Given the description of an element on the screen output the (x, y) to click on. 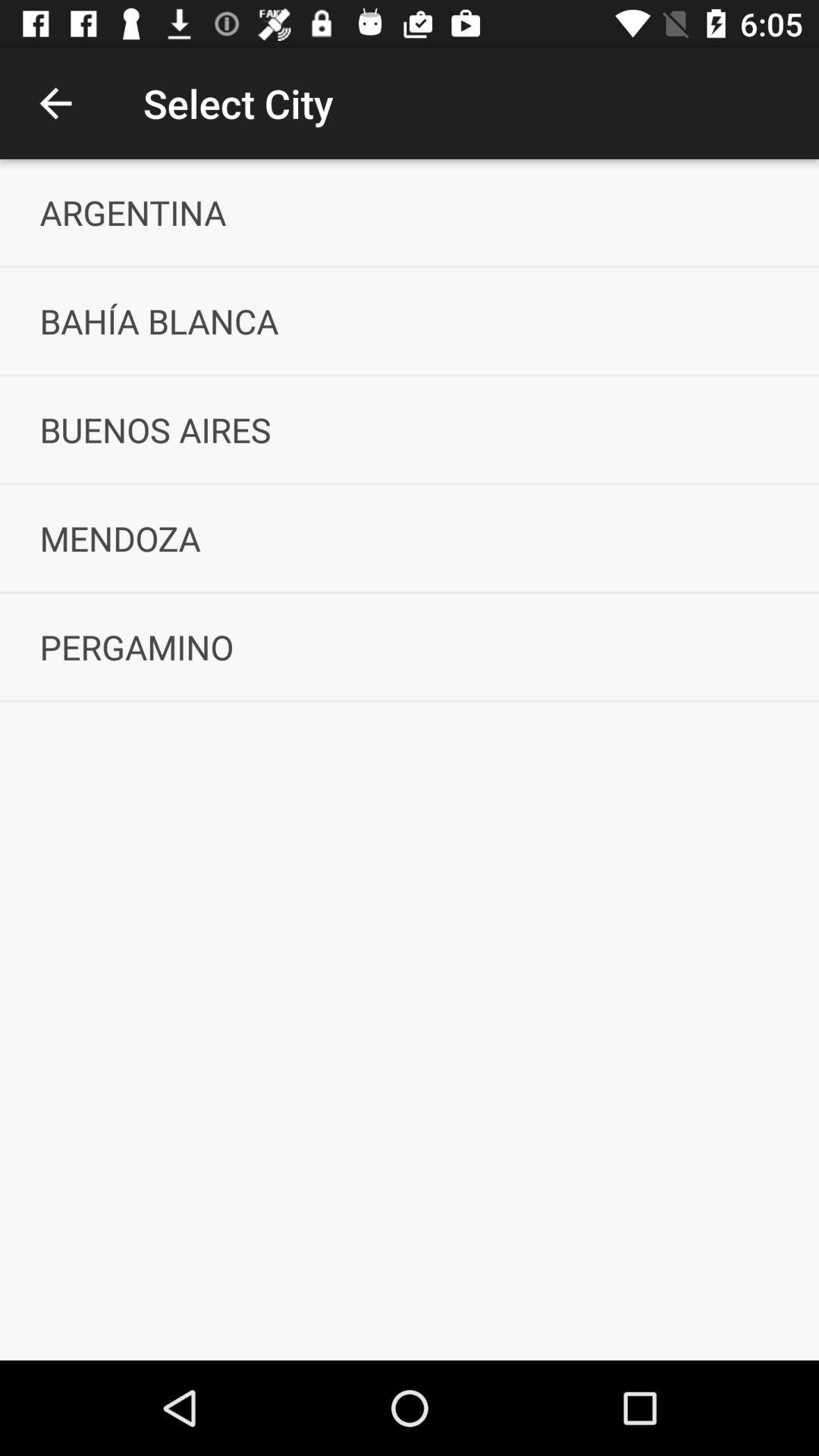
launch the argentina (409, 212)
